Given the description of an element on the screen output the (x, y) to click on. 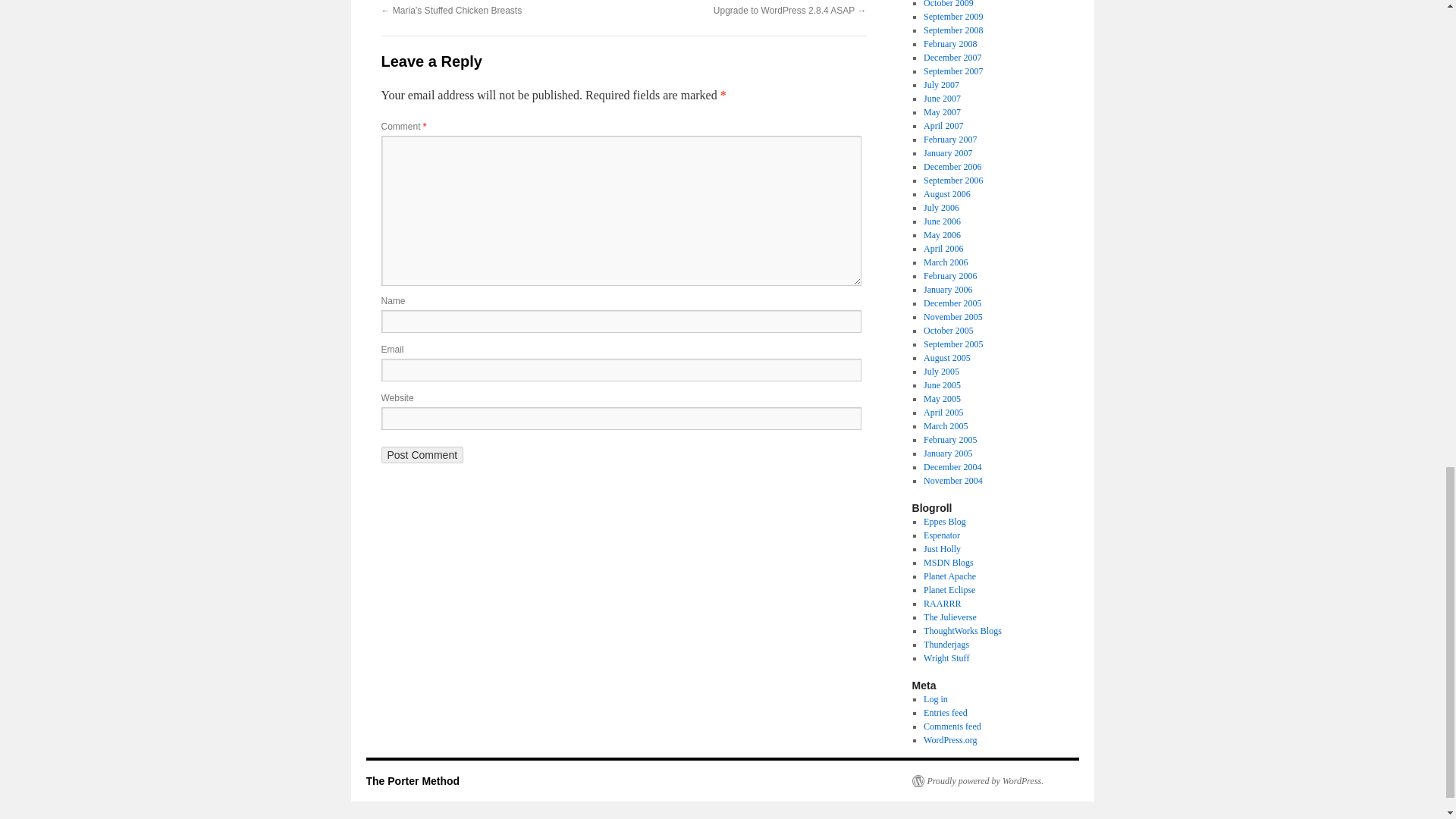
The Porter Method (412, 780)
Post Comment (421, 454)
Post Comment (421, 454)
Semantic Personal Publishing Platform (977, 780)
